Given the description of an element on the screen output the (x, y) to click on. 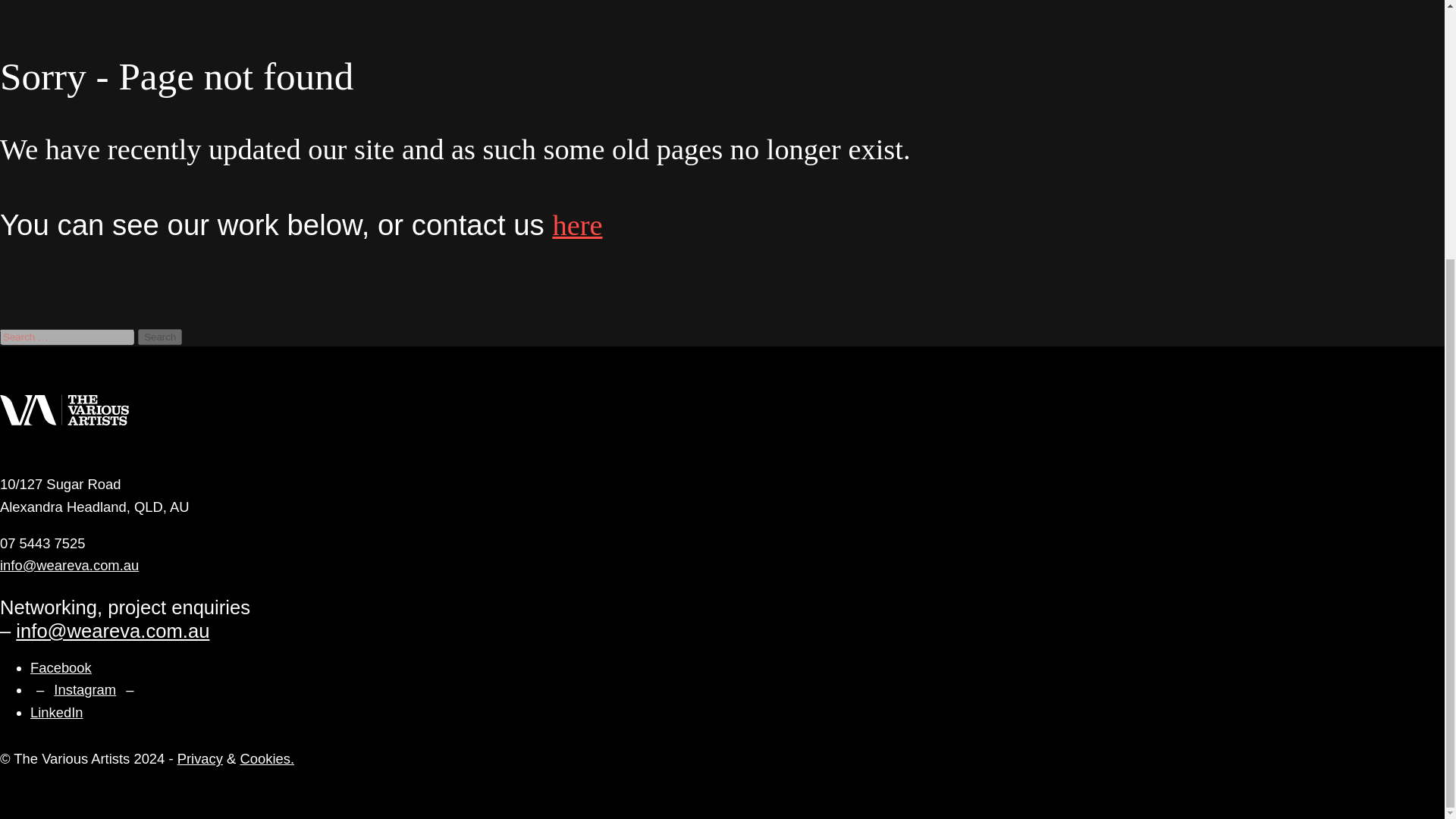
Privacy (199, 758)
Cookies. (267, 758)
Search (160, 336)
07 5443 7525 (42, 543)
Instagram (84, 689)
LinkedIn (56, 712)
here (576, 225)
Search (160, 336)
Facebook (60, 667)
Search (160, 336)
